Given the description of an element on the screen output the (x, y) to click on. 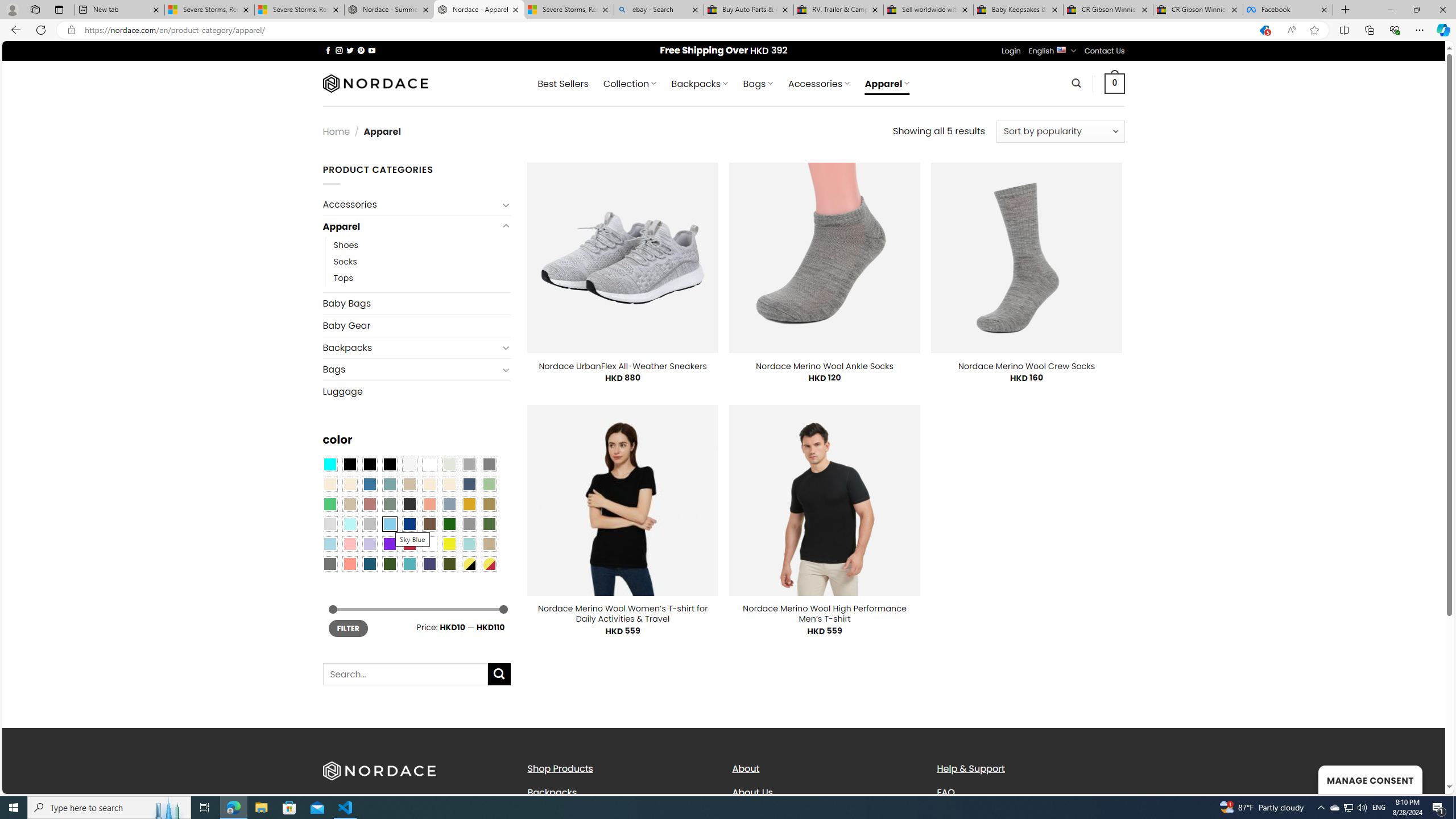
White (429, 543)
Baby Bags (416, 303)
Beige-Brown (349, 483)
Backpacks (551, 792)
Baby Gear (416, 324)
Green (488, 523)
Aqua Blue (329, 464)
Light Purple (369, 543)
